Given the description of an element on the screen output the (x, y) to click on. 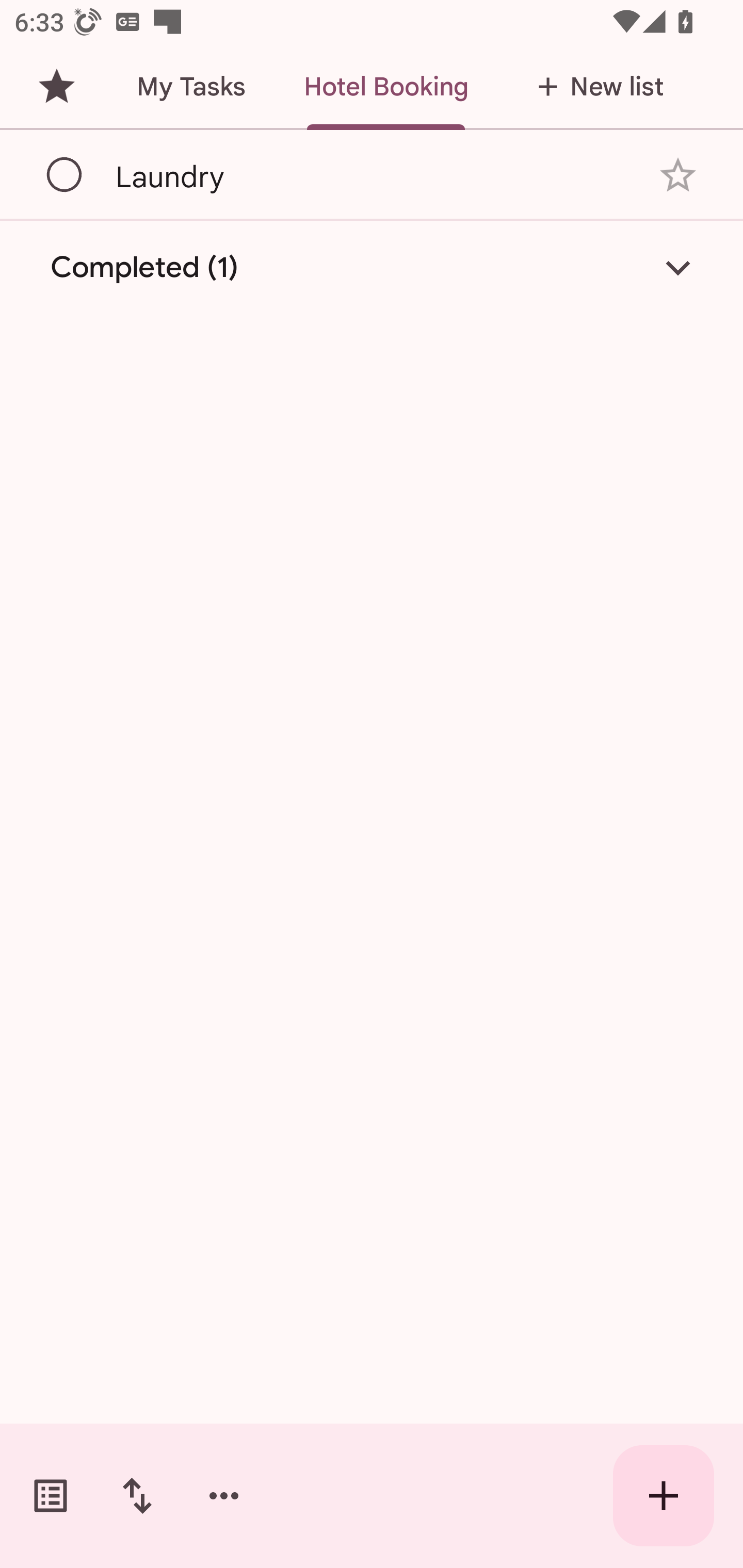
Starred (55, 86)
My Tasks (190, 86)
New list (594, 86)
Laundry Laundry Add star Mark as complete (371, 173)
Add star (677, 174)
Mark as complete (64, 175)
Completed (1) (371, 268)
Switch task lists (50, 1495)
Create new task (663, 1495)
Change sort order (136, 1495)
More options (223, 1495)
